Given the description of an element on the screen output the (x, y) to click on. 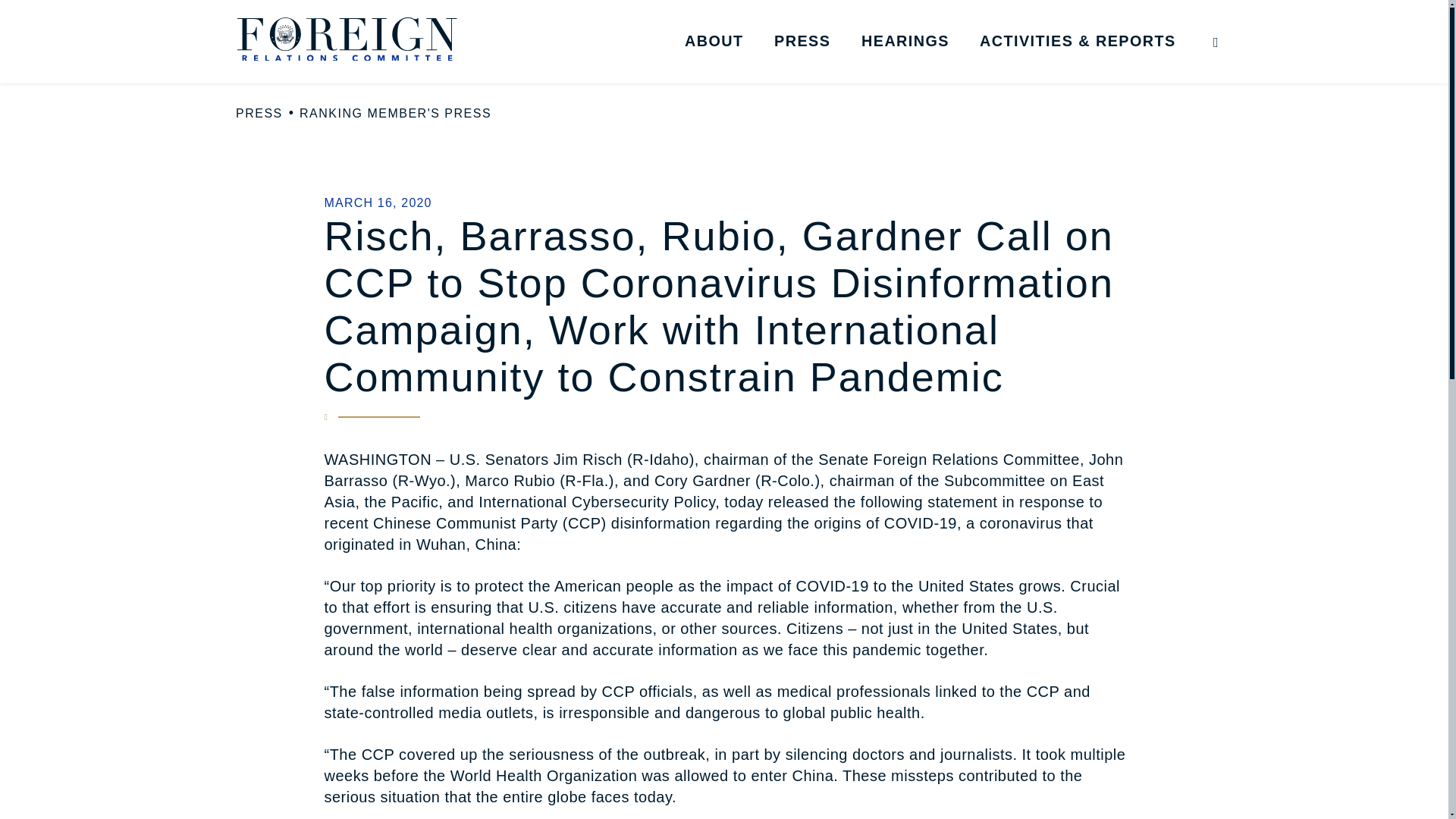
Skip to content (26, 26)
RANKING MEMBER'S PRESS (395, 113)
PRESS (259, 113)
HEARINGS (905, 41)
Chairman's Press (887, 68)
Membership (798, 68)
ABOUT (714, 41)
PRESS (801, 41)
Nominations (1093, 68)
